Given the description of an element on the screen output the (x, y) to click on. 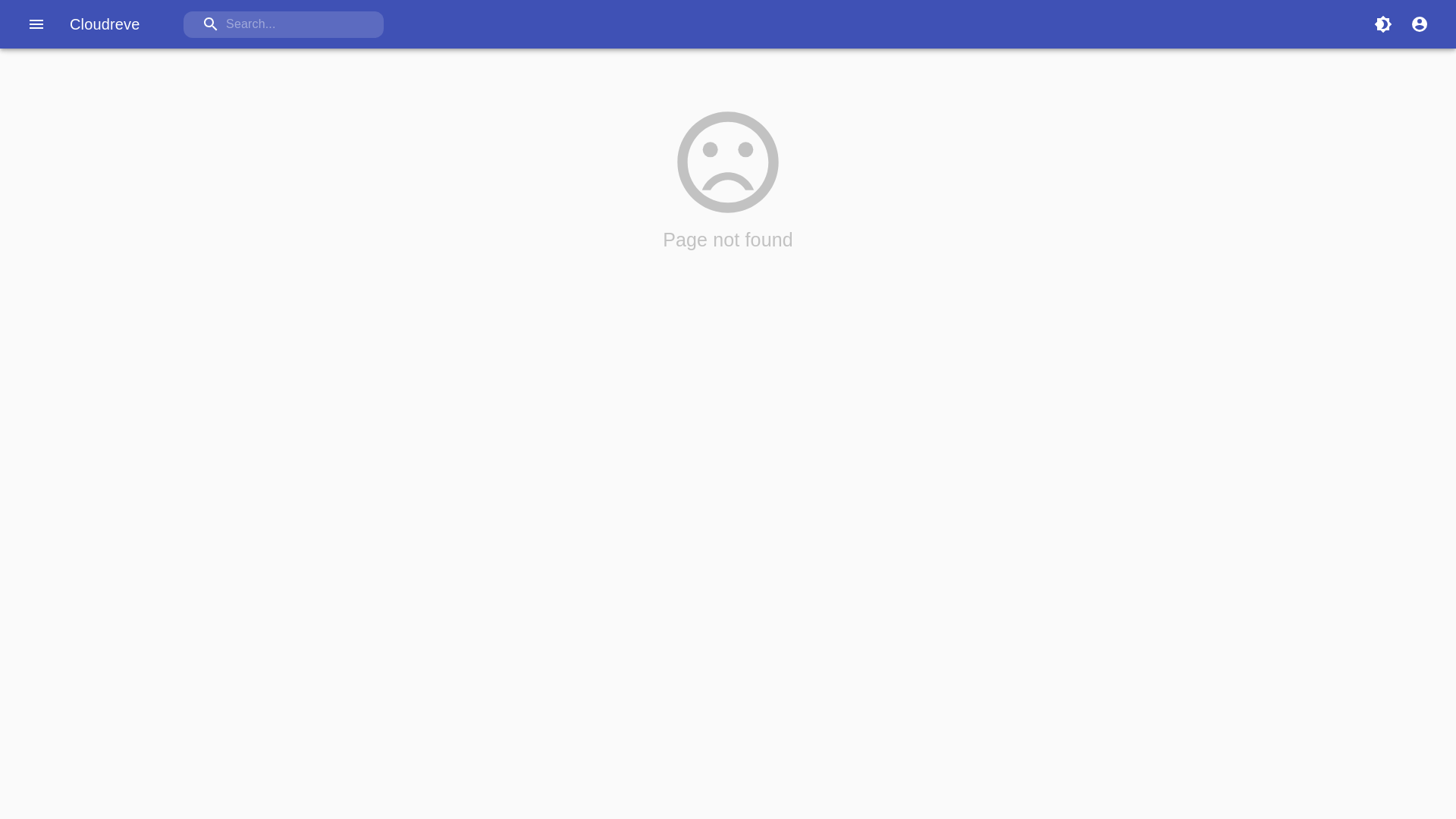
Switch to dark theme Element type: hover (1383, 24)
